Given the description of an element on the screen output the (x, y) to click on. 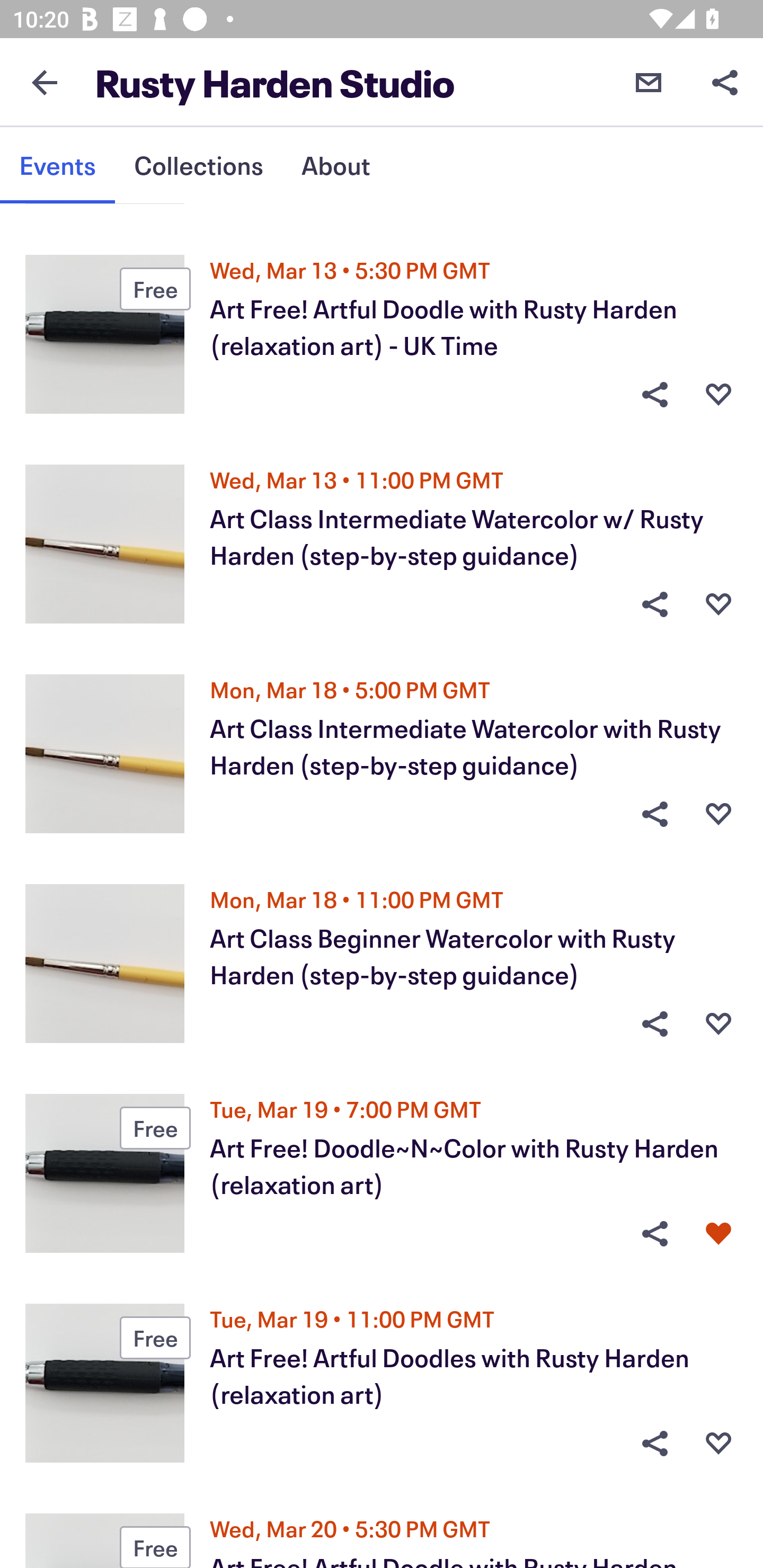
Navigate up (44, 82)
Contact (648, 81)
Share (724, 81)
Collections (198, 165)
About (335, 165)
Share Event (654, 394)
Like event (718, 394)
Share Event (654, 604)
Like event (718, 604)
Share Event (654, 813)
Like event (718, 813)
Share Event (654, 1023)
Like event (718, 1023)
Share Event (654, 1233)
Like event (718, 1233)
Share Event (654, 1442)
Like event (718, 1442)
